Given the description of an element on the screen output the (x, y) to click on. 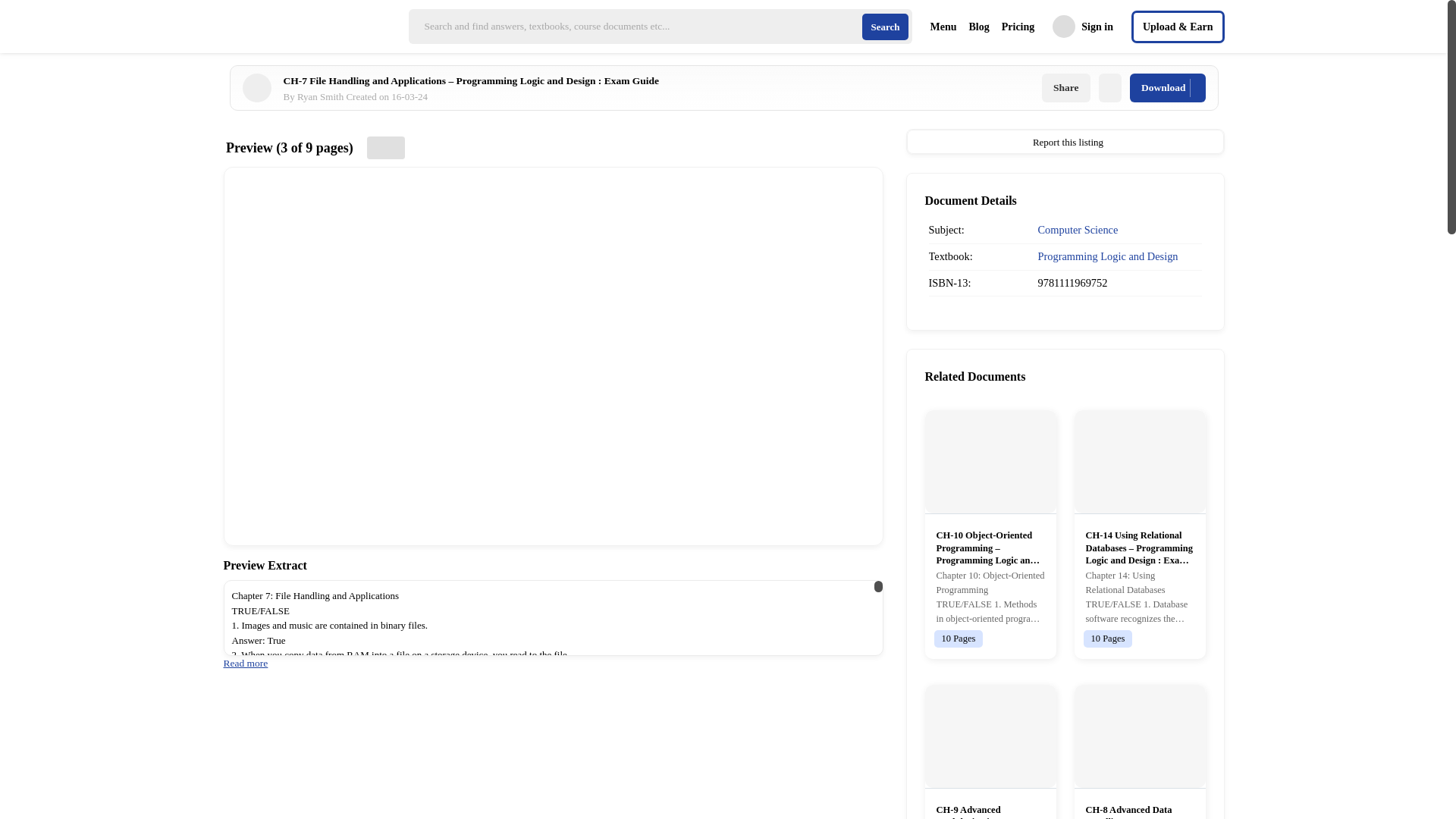
Share (1066, 87)
Pricing (1167, 87)
Search (1015, 26)
By Ryan Smith Created on 16-03-24 (884, 26)
person (650, 96)
